Given the description of an element on the screen output the (x, y) to click on. 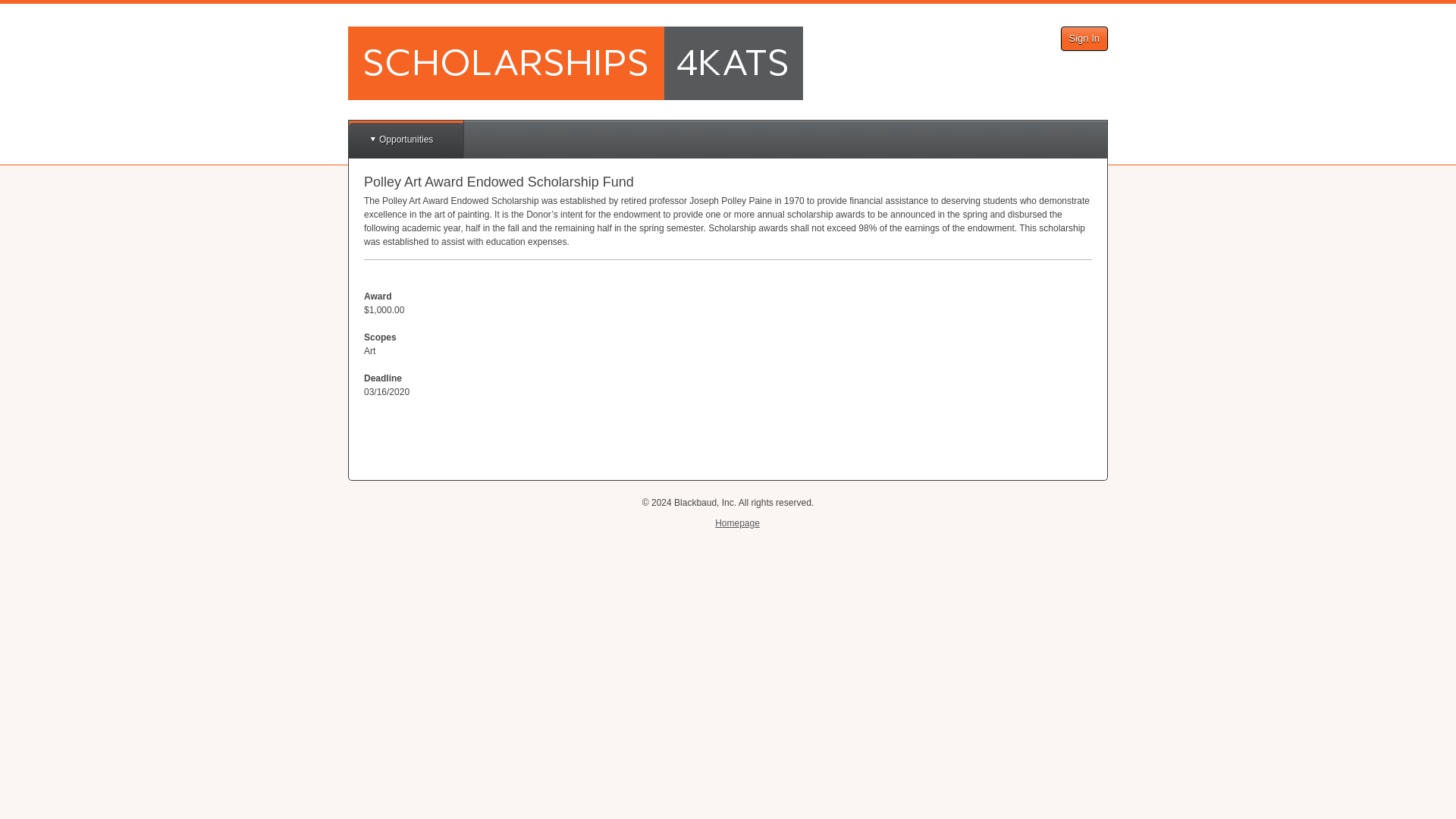
Sam Houston State University Scholarships (575, 62)
Opportunities (406, 139)
Homepage (737, 522)
Sign In (1084, 38)
